Given the description of an element on the screen output the (x, y) to click on. 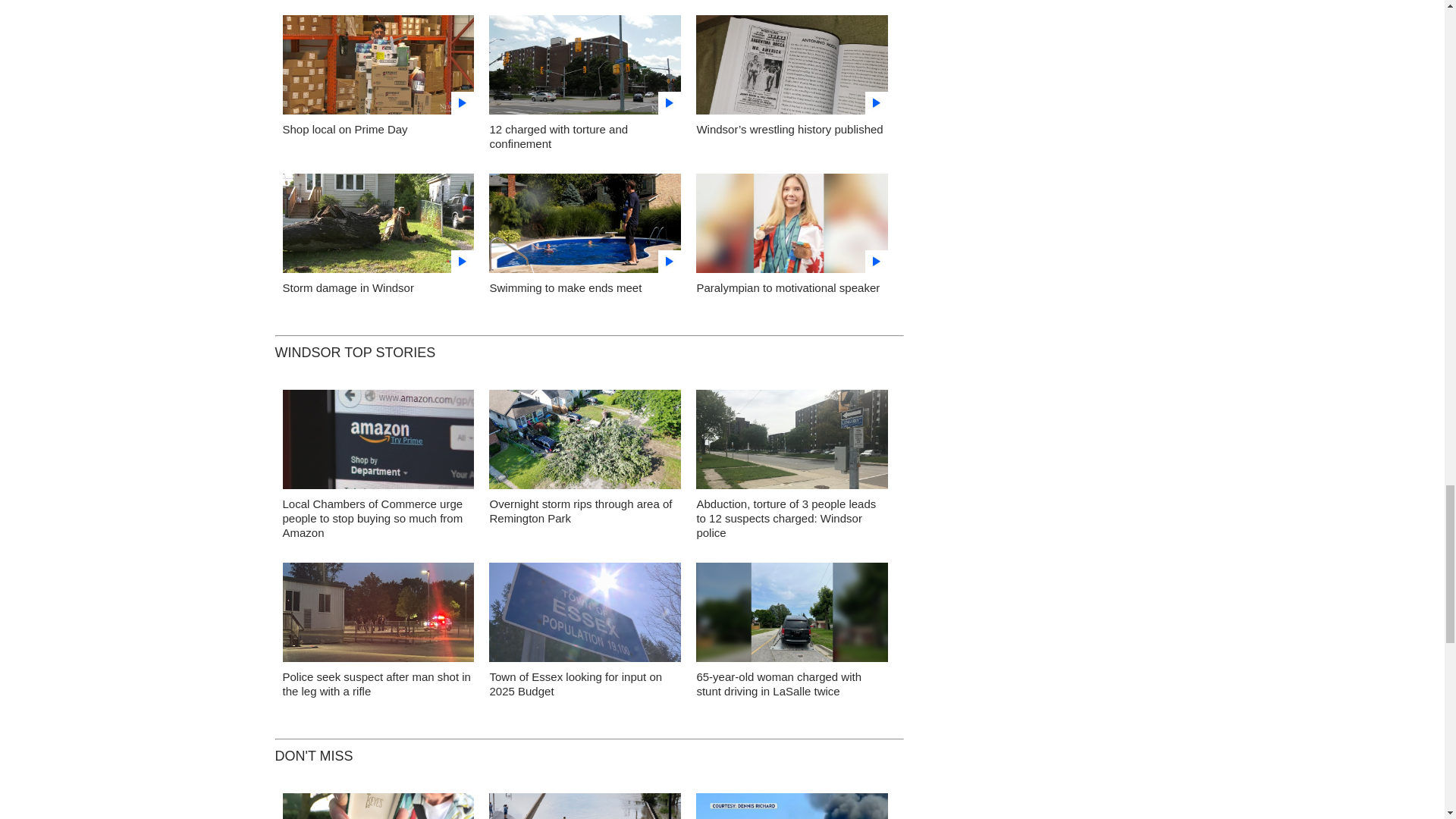
Jamie Greer Book (791, 68)
Campbell Ave shooting Windsor (378, 616)
Campo thumbnail (791, 227)
false (585, 64)
false (585, 222)
false (791, 222)
12 charged with torture and confinement (585, 68)
Town of Essex (585, 616)
Shop local on Prime Day (344, 128)
Shop local on Prime Day (378, 68)
false (378, 222)
Paralympian to motivational speaker (787, 287)
Storm damage in Windsor (378, 227)
Swimming to make ends meet (565, 287)
